Given the description of an element on the screen output the (x, y) to click on. 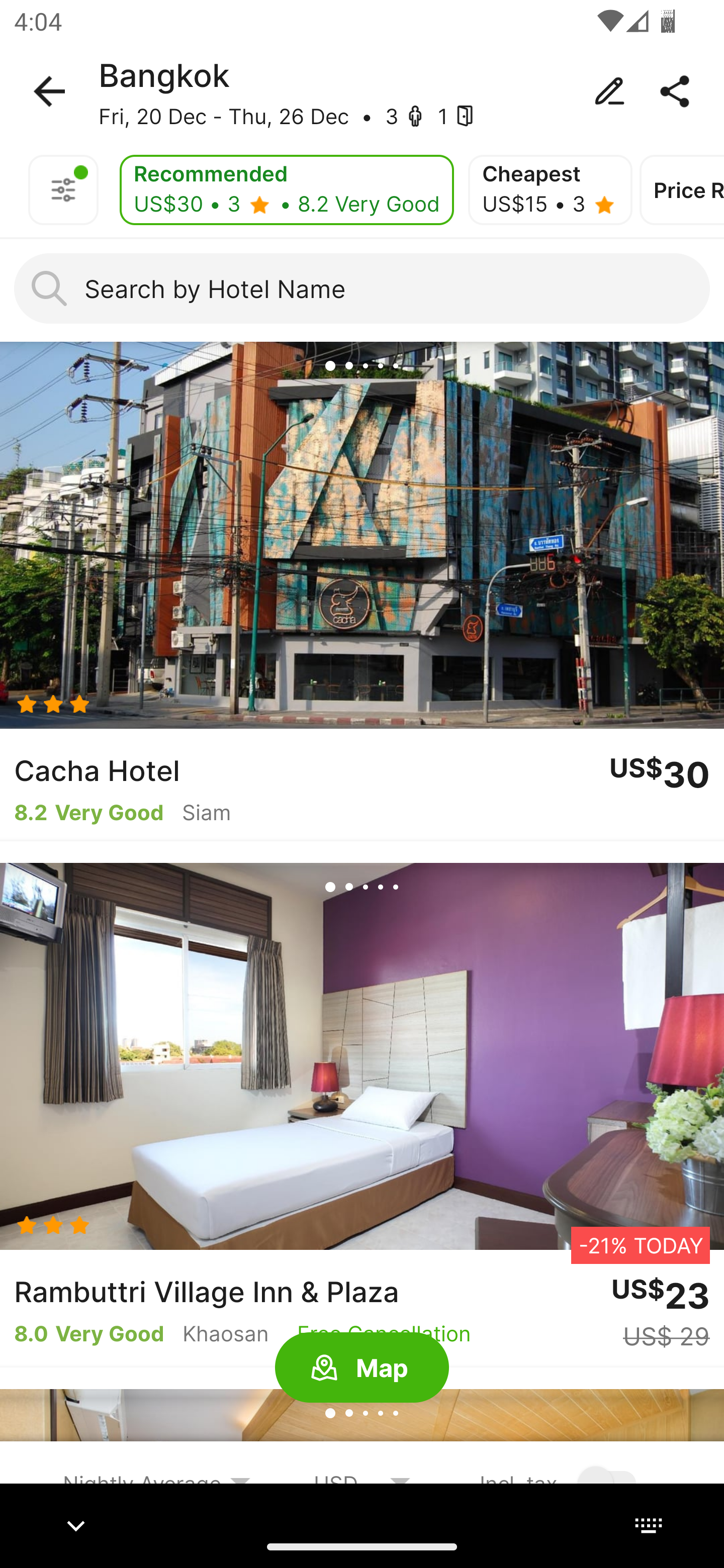
Bangkok Fri, 20 Dec - Thu, 26 Dec  •  3 -  1 - (361, 91)
Recommended  US$30  • 3 - • 8.2 Very Good (286, 190)
Cheapest US$15  • 3 - (550, 190)
Search by Hotel Name  (361, 288)
10.0 Cacha Hotel 8.2 Very Good Siam (362, 590)
Map  (361, 1367)
Nightly Average (156, 1482)
USD (361, 1482)
